Given the description of an element on the screen output the (x, y) to click on. 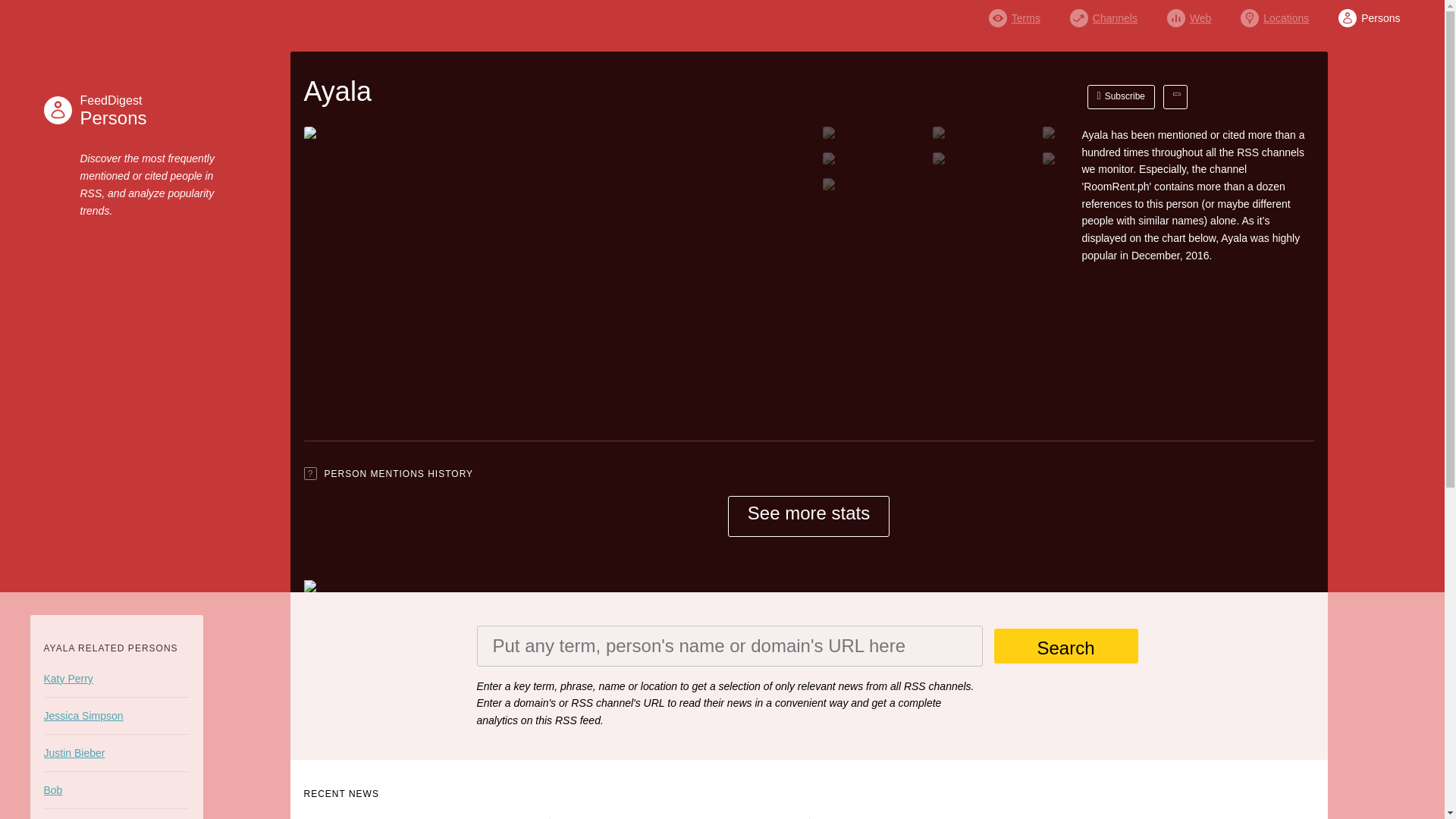
Persons (1368, 14)
See more stats (808, 516)
Web (1189, 14)
Terms (1014, 14)
Subscribe (1121, 96)
Locations (1274, 14)
Search (1064, 645)
Channels (1103, 14)
